Given the description of an element on the screen output the (x, y) to click on. 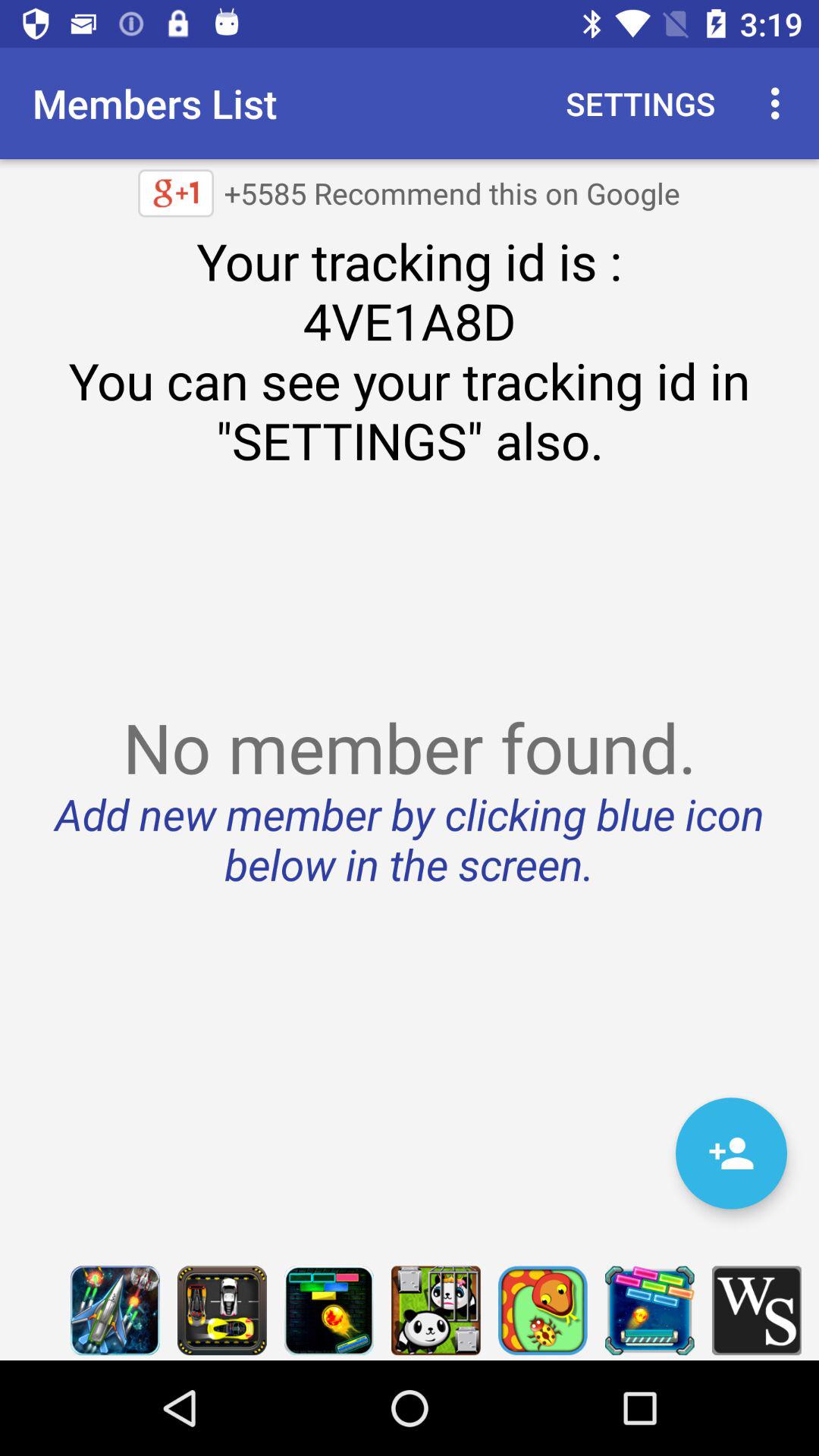
select the icon to the right of settings (779, 103)
